Given the description of an element on the screen output the (x, y) to click on. 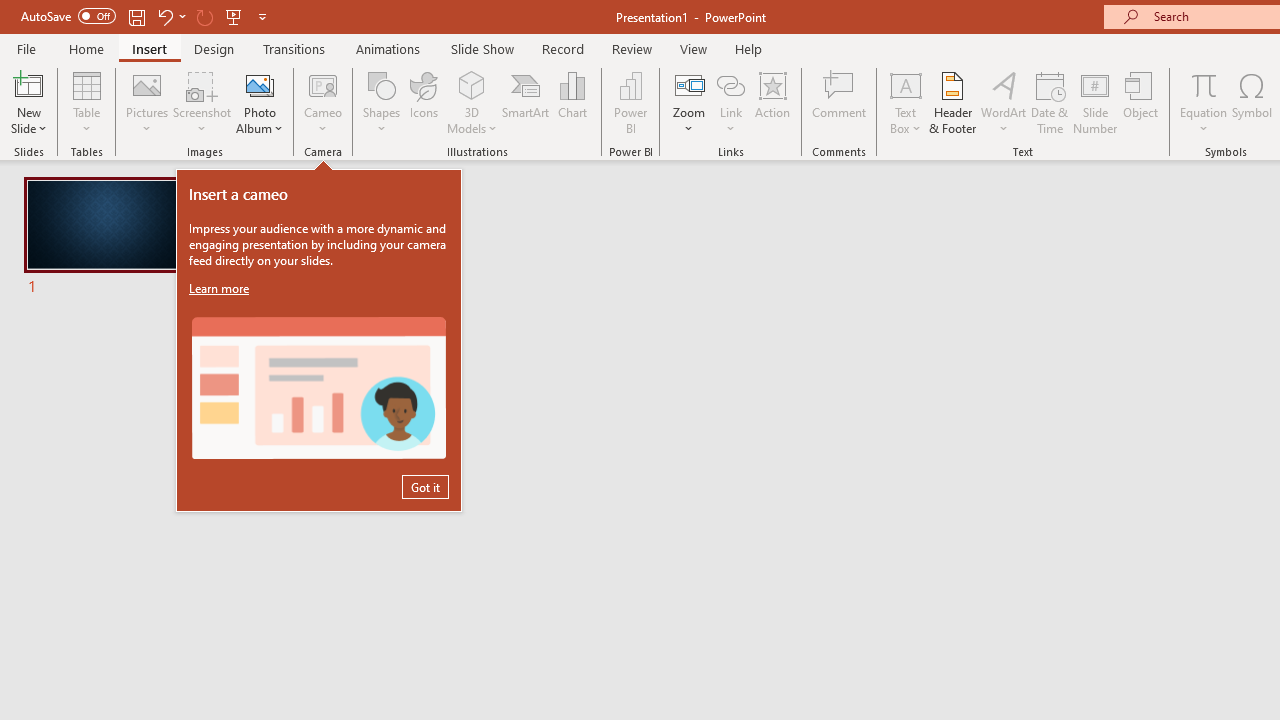
Comment (839, 102)
Icons (424, 102)
Got it (425, 486)
Insert a cameo (318, 387)
Photo Album... (259, 102)
New Photo Album... (259, 84)
